Given the description of an element on the screen output the (x, y) to click on. 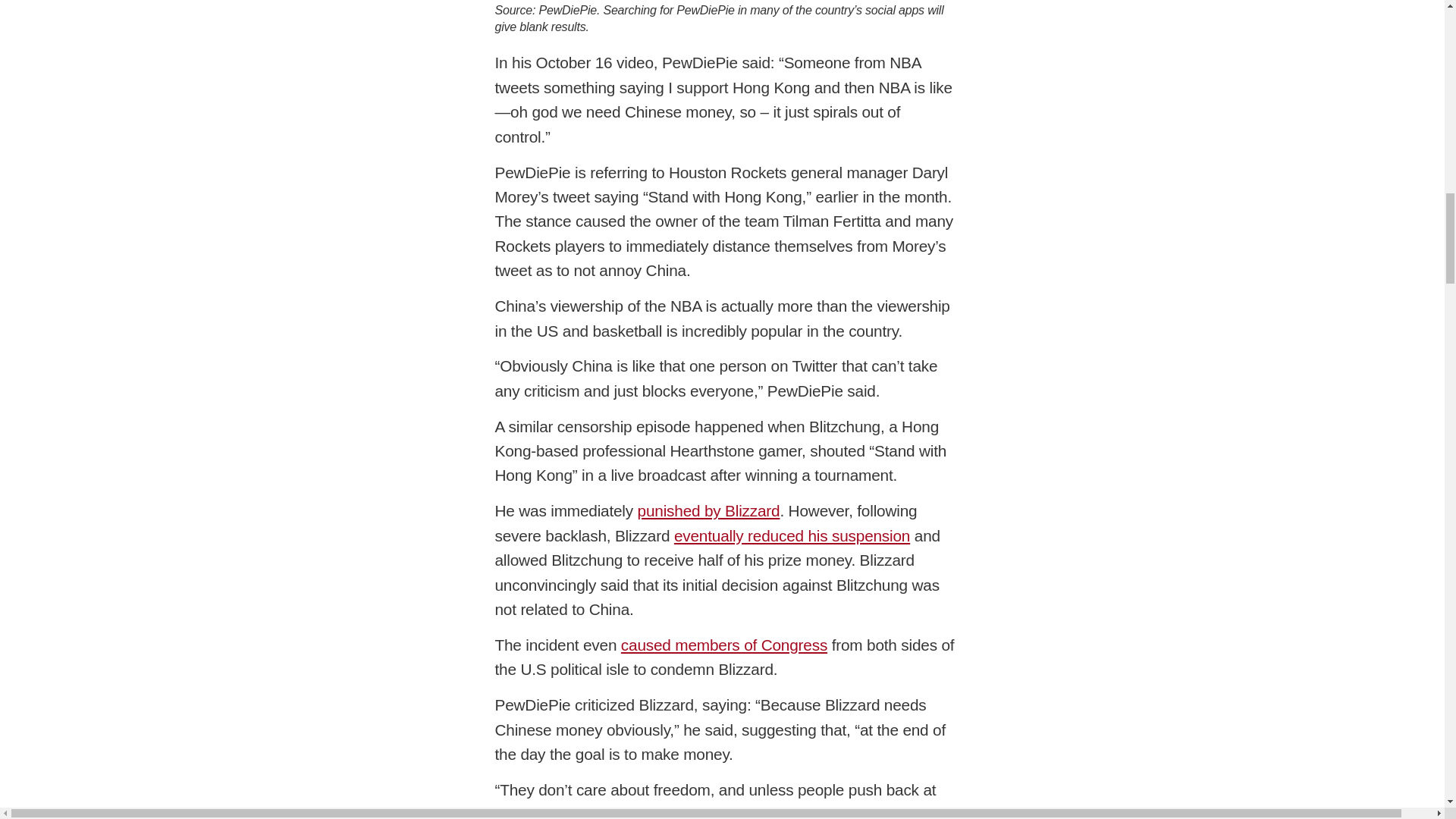
eventually reduced his suspension (792, 535)
punished by Blizzard (708, 510)
caused members of Congress (724, 644)
